Given the description of an element on the screen output the (x, y) to click on. 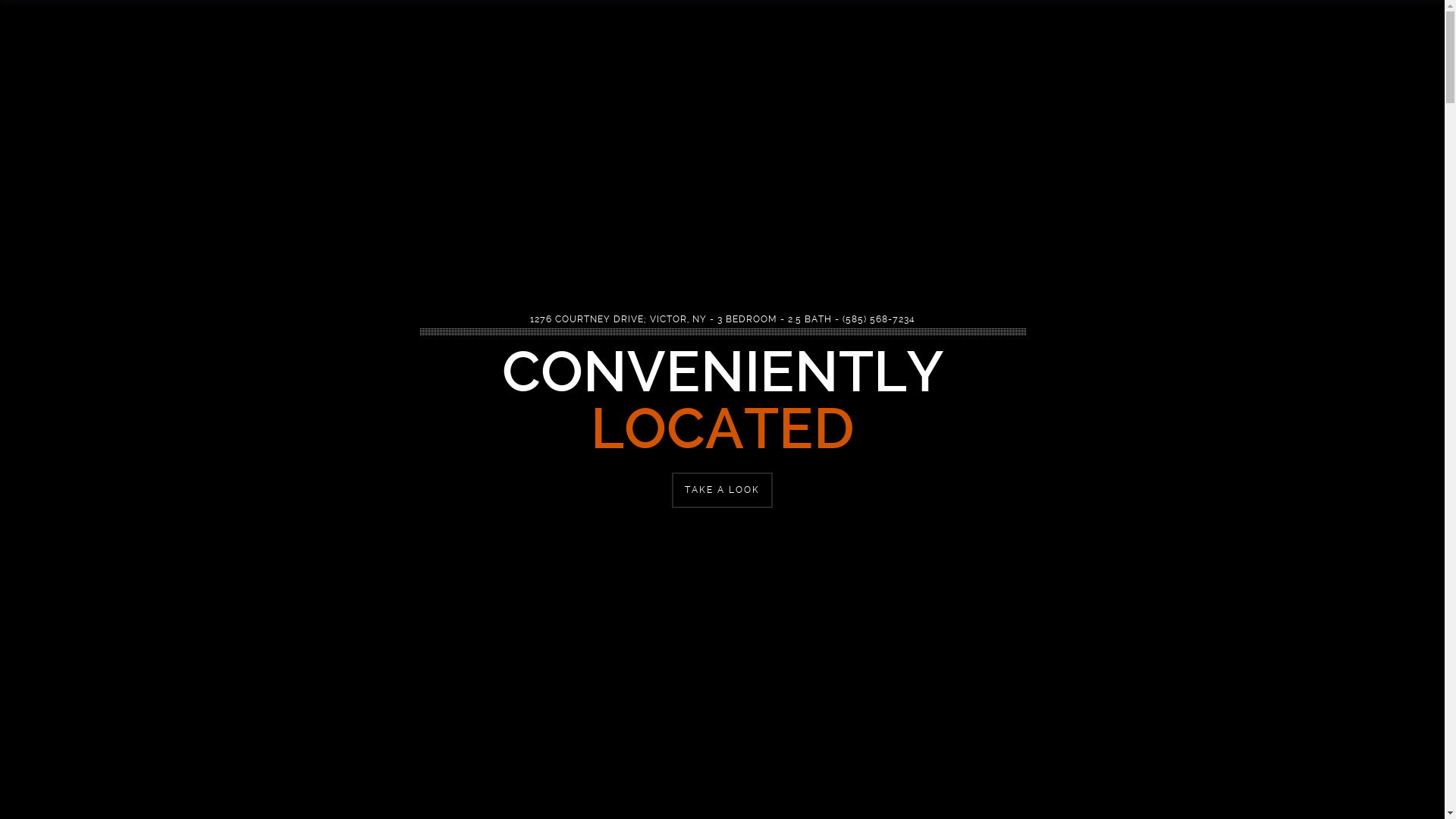
TAKE A LOOK Element type: text (721, 490)
